Given the description of an element on the screen output the (x, y) to click on. 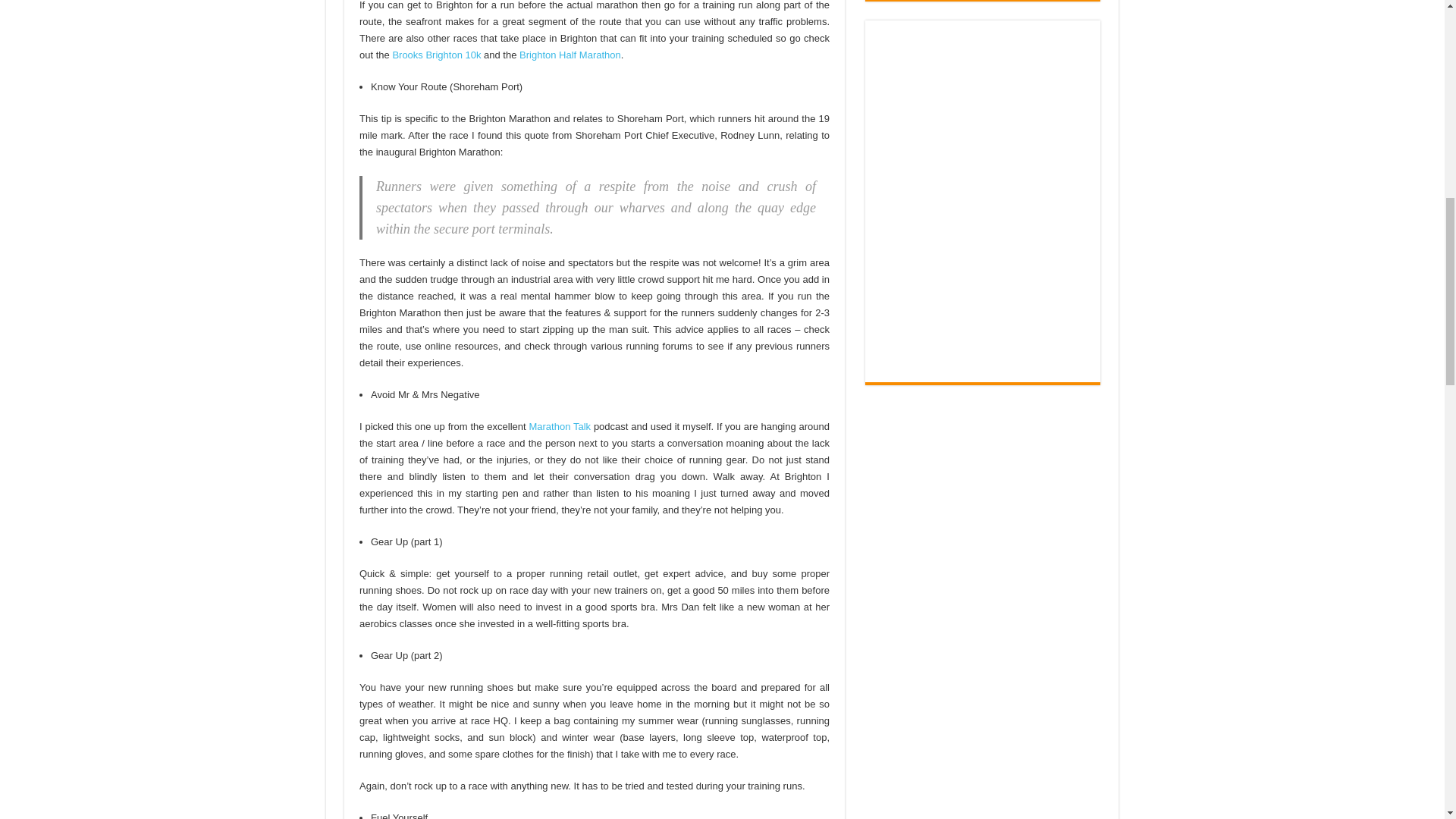
Marathon Talk (559, 426)
Brooks Brighton 10k (435, 54)
Brighton Half Marathon (570, 54)
